Given the description of an element on the screen output the (x, y) to click on. 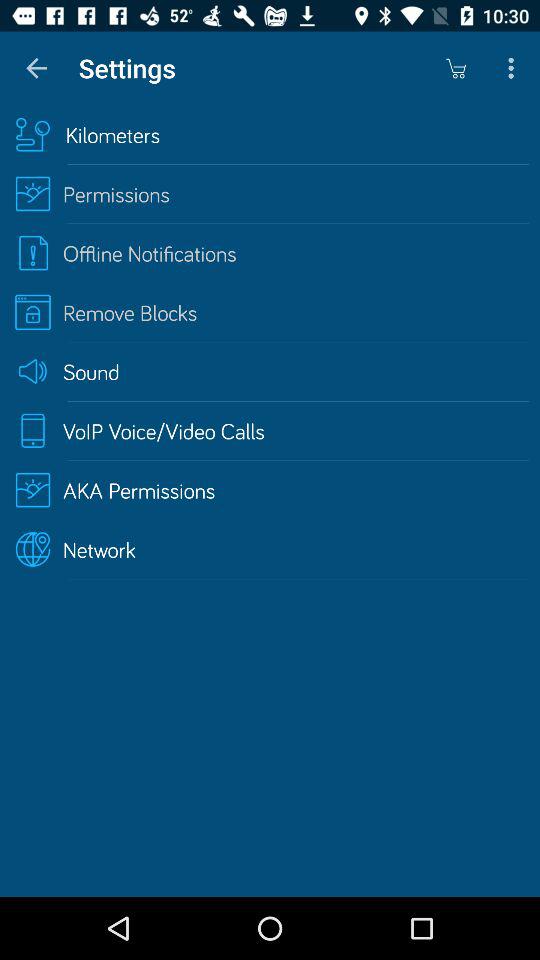
turn on icon above the kilometers (36, 68)
